Given the description of an element on the screen output the (x, y) to click on. 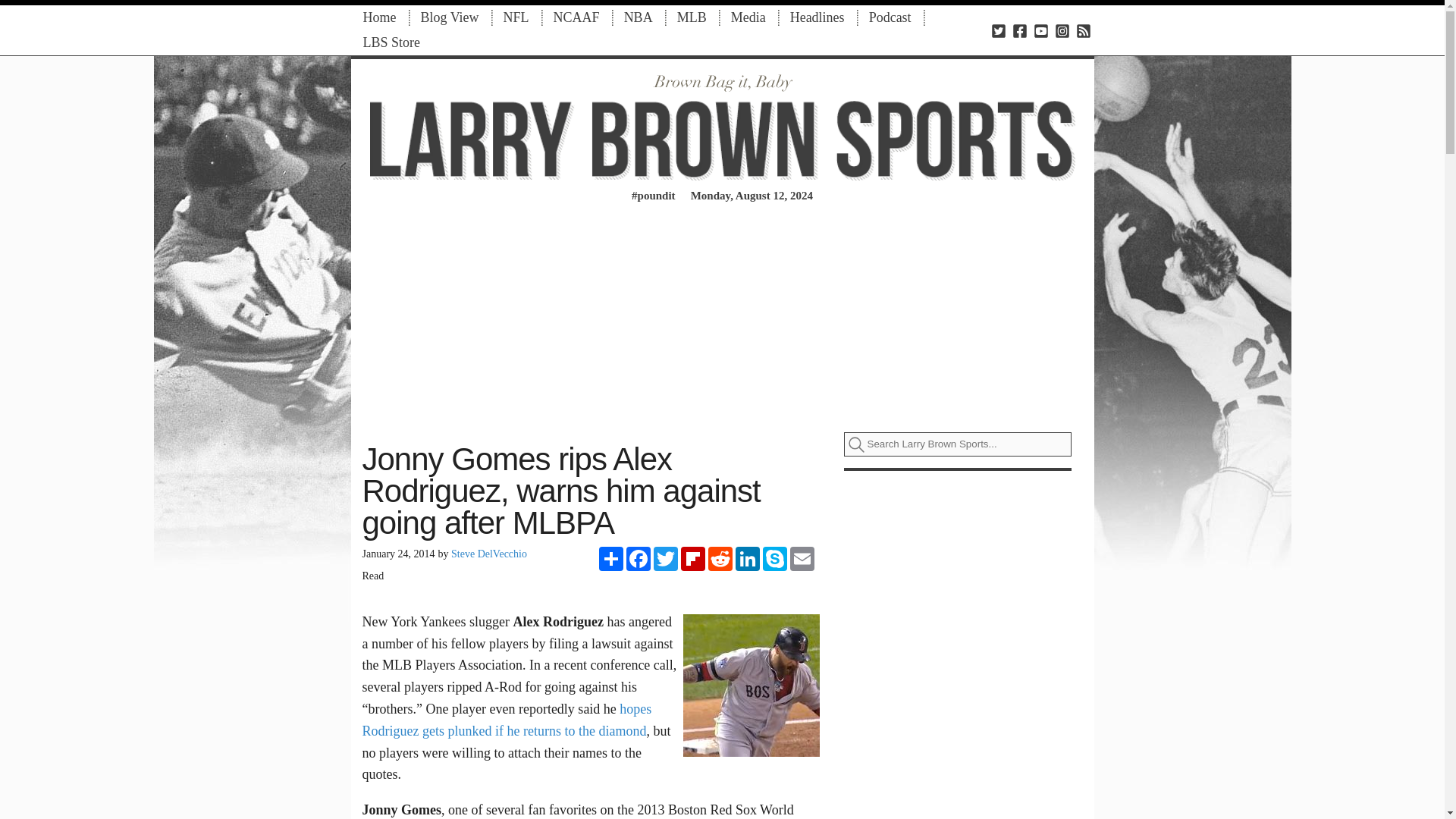
NCAAF (576, 17)
NFL (516, 17)
NBA (638, 17)
Podcast (890, 17)
Flipboard (692, 558)
Blog View (448, 17)
View Larry Brown Sports Twitter (998, 29)
Home (378, 17)
Headlines (817, 17)
Twitter (665, 558)
